Given the description of an element on the screen output the (x, y) to click on. 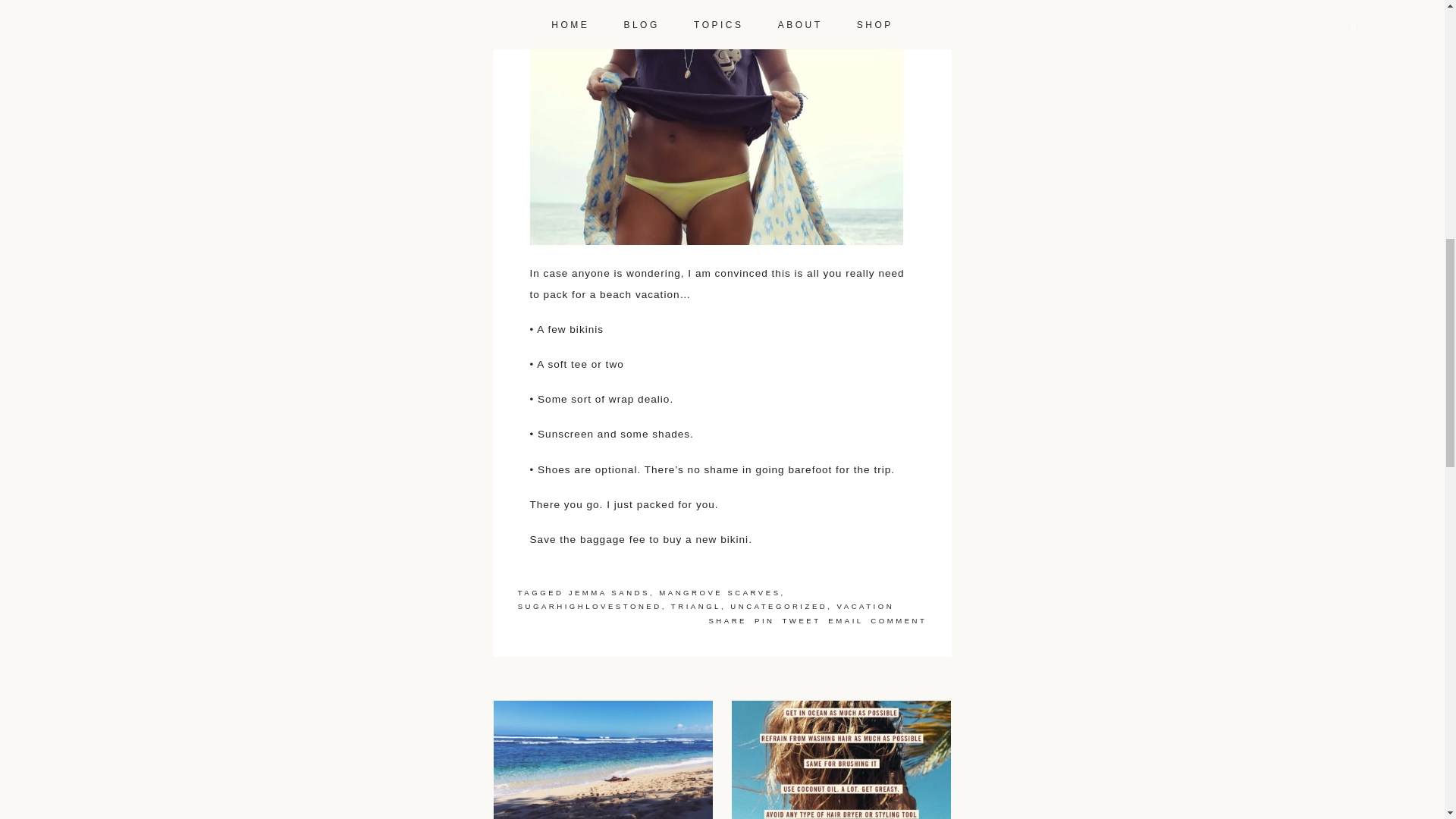
Facebook (730, 620)
SUGARHIGHLOVESTONED (590, 605)
In case anyone is wondering how (603, 760)
MANGROVE SCARVES (719, 592)
In case anyone is looking for (842, 760)
JEMMA SANDS (609, 592)
VACATION (866, 605)
TRIANGL (695, 605)
UNCATEGORIZED (778, 605)
SHARE (730, 620)
Twitter (803, 620)
